Given the description of an element on the screen output the (x, y) to click on. 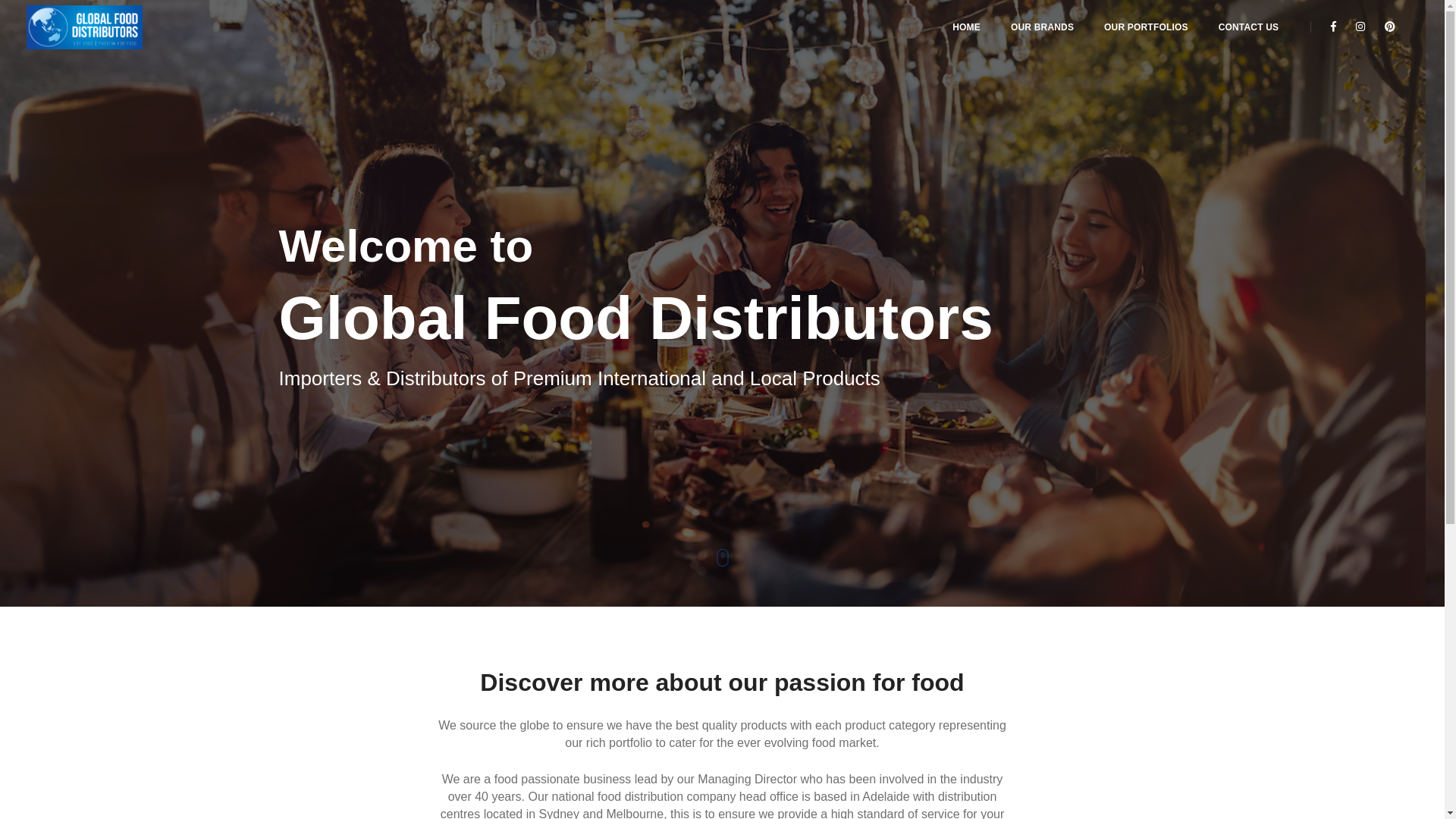
Pinterest Element type: hover (1385, 26)
CONTACT US Element type: text (1248, 27)
Pofo Element type: hover (107, 26)
OUR BRANDS Element type: text (1041, 27)
Instagram Element type: hover (1360, 26)
Facebook Element type: hover (1333, 26)
HOME Element type: text (966, 27)
OUR PORTFOLIOS Element type: text (1146, 27)
